Given the description of an element on the screen output the (x, y) to click on. 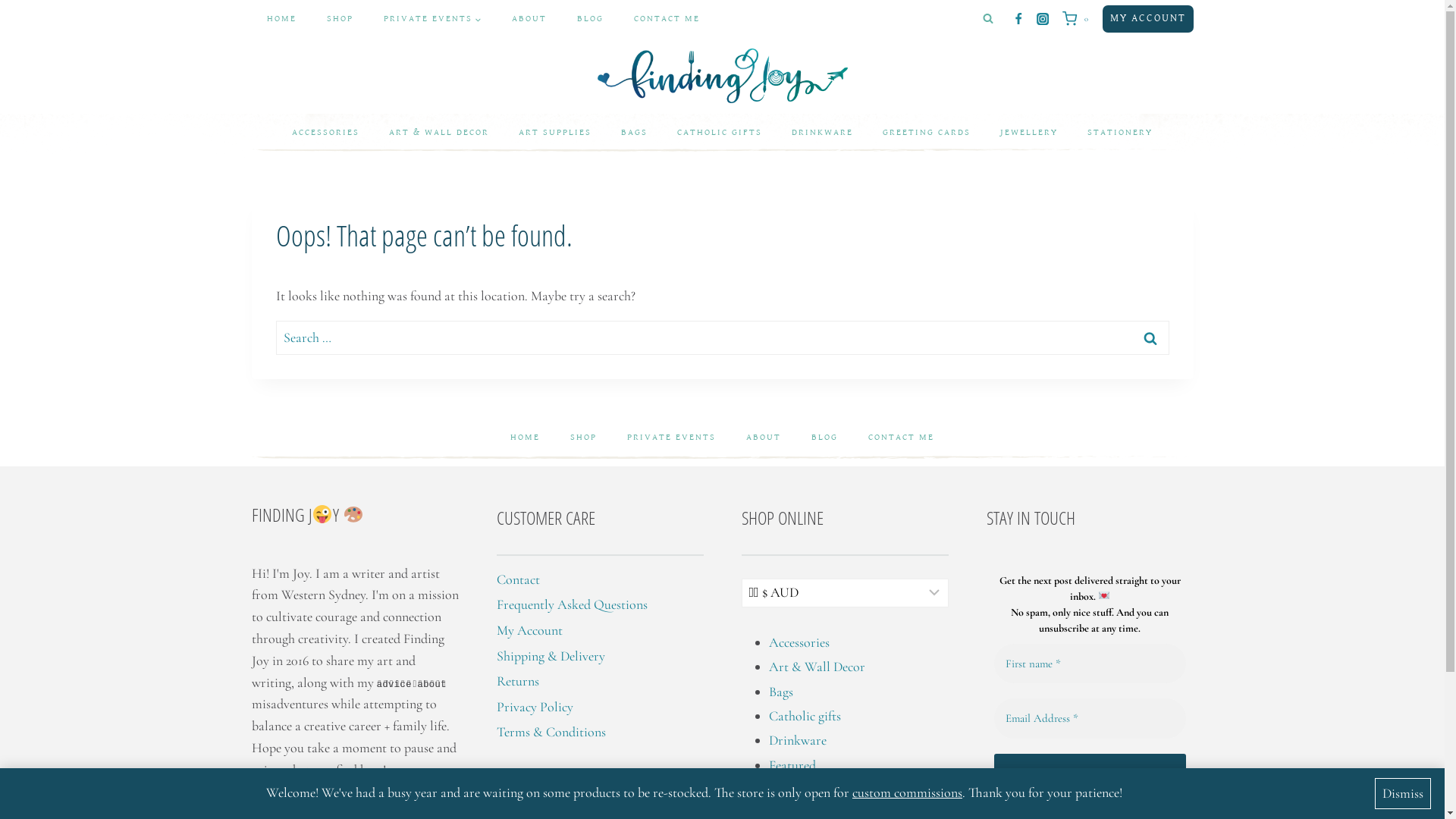
DRINKWARE Element type: text (821, 132)
0 Element type: text (1078, 18)
ABOUT Element type: text (763, 436)
My Account Element type: text (528, 629)
Privacy Policy Element type: text (533, 706)
custom commissions Element type: text (907, 792)
Featured Element type: text (791, 764)
Contact Element type: text (517, 579)
Returns Element type: text (516, 680)
GREETING CARDS Element type: text (926, 132)
ART & WALL DECOR Element type: text (439, 132)
BAGS Element type: text (634, 132)
HOME Element type: text (525, 436)
Frequently Asked Questions Element type: text (570, 604)
ACCESSORIES Element type: text (325, 132)
CONTACT ME Element type: text (901, 436)
HOME Element type: text (281, 18)
First name Element type: hover (1089, 663)
Search Element type: text (1150, 337)
CONTACT ME Element type: text (666, 18)
SHOP Element type: text (583, 436)
SHOP Element type: text (338, 18)
Bags Element type: text (780, 691)
Catholic gifts Element type: text (804, 715)
BLOG Element type: text (824, 436)
CATHOLIC GIFTS Element type: text (719, 132)
Terms & Conditions Element type: text (550, 731)
ART SUPPLIES Element type: text (554, 132)
Drinkware Element type: text (797, 739)
Email Address Element type: hover (1089, 718)
PRIVATE EVENTS Element type: text (432, 18)
BLOG Element type: text (589, 18)
Dismiss Element type: text (1402, 793)
MY ACCOUNT Element type: text (1147, 18)
STATIONERY Element type: text (1119, 132)
Greeting cards Element type: text (807, 789)
JEWELLERY Element type: text (1029, 132)
Art & Wall Decor Element type: text (816, 666)
ABOUT Element type: text (528, 18)
Shipping & Delivery Element type: text (549, 655)
PRIVATE EVENTS Element type: text (671, 436)
Accessories Element type: text (798, 641)
